Given the description of an element on the screen output the (x, y) to click on. 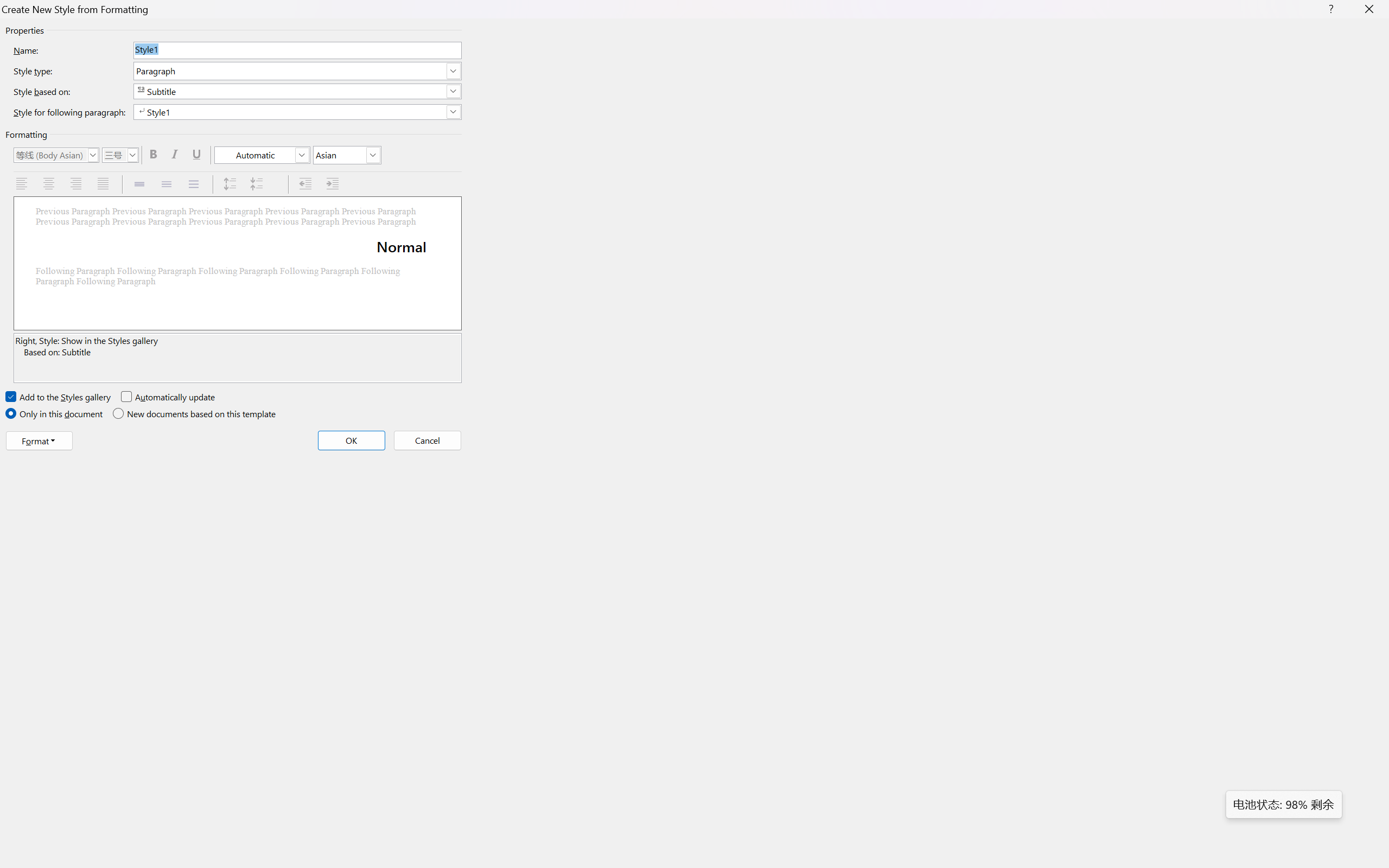
Style type: (297, 70)
OK (352, 440)
RichEdit Control (297, 50)
Align Left (22, 183)
MSO Generic Control Container (55, 155)
1.5 Spacing (167, 183)
Center (49, 183)
Justify (103, 183)
Name: (297, 50)
Align Right (77, 183)
Single Spacing (140, 183)
Italic (176, 154)
Double Spacing (195, 183)
